Given the description of an element on the screen output the (x, y) to click on. 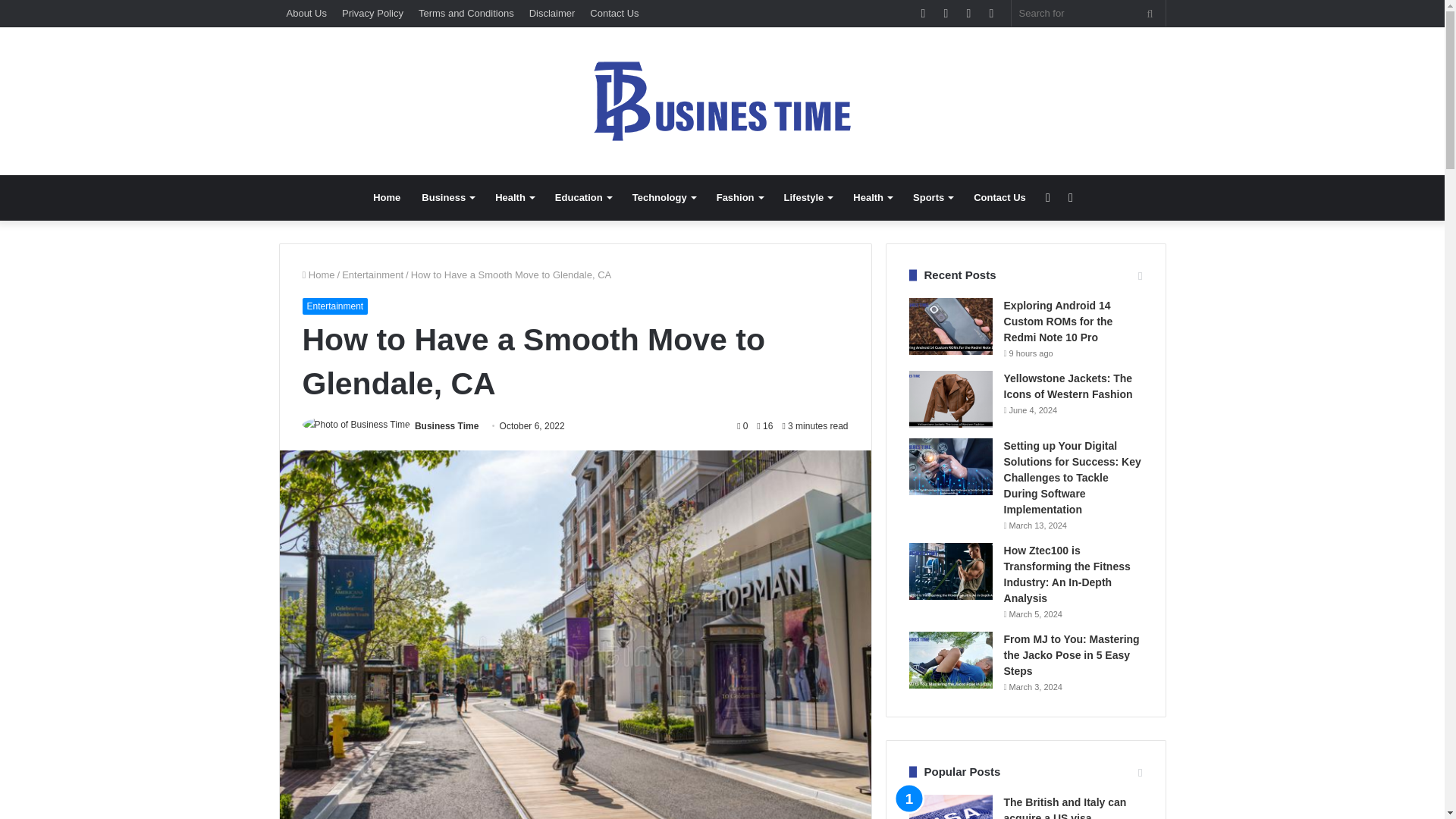
Sports (932, 197)
Entertainment (372, 274)
Search for (1149, 13)
Health (514, 197)
About Us (306, 13)
Fashion (739, 197)
Lifestyle (808, 197)
Home (386, 197)
Privacy Policy (372, 13)
Contact Us (614, 13)
Home (317, 274)
Health (872, 197)
Busines Time (722, 100)
Disclaimer (552, 13)
Contact Us (999, 197)
